Given the description of an element on the screen output the (x, y) to click on. 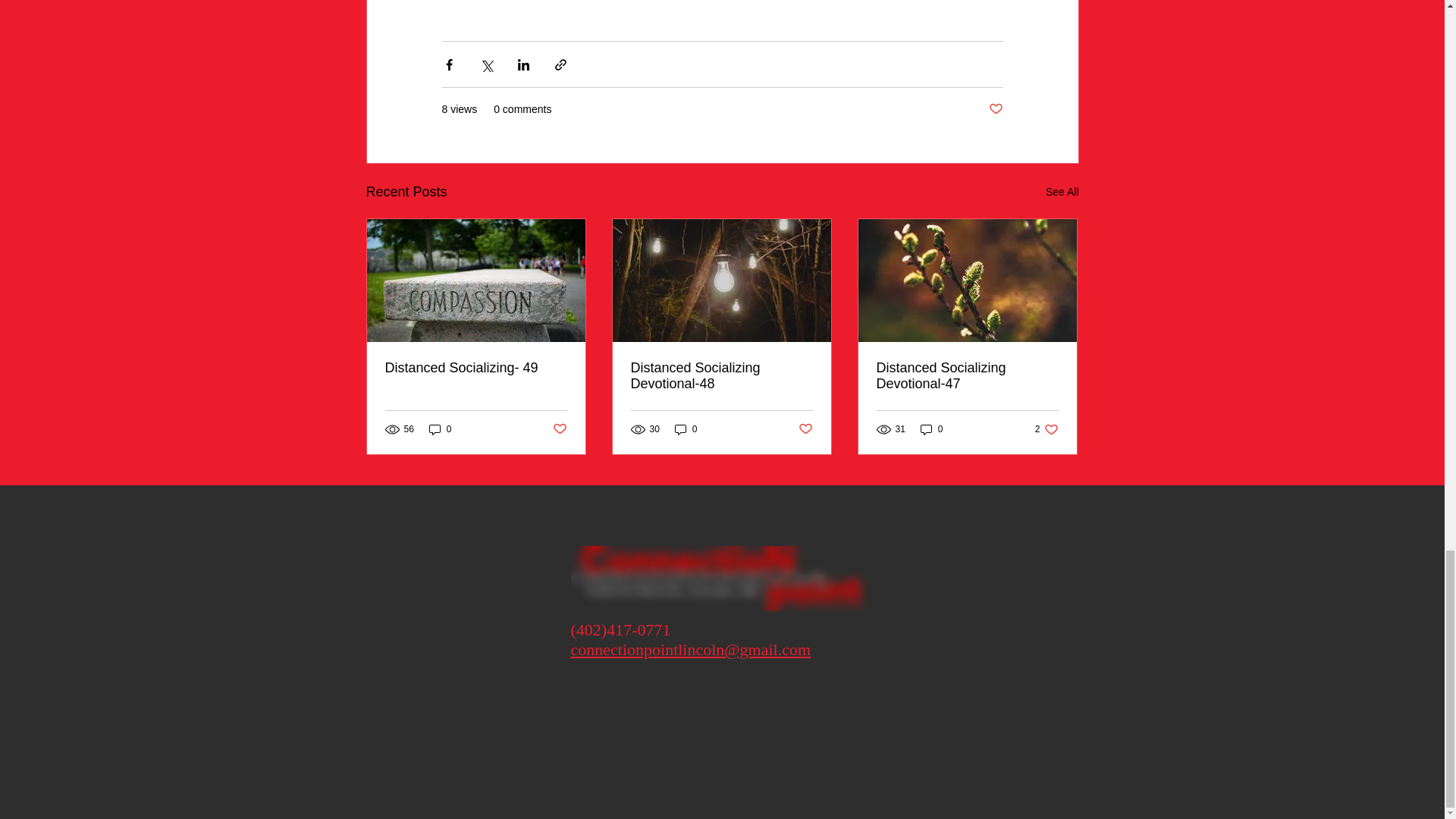
0 (685, 428)
Post not marked as liked (995, 109)
Distanced Socializing Devotional-47 (967, 376)
Distanced Socializing Devotional-48 (721, 376)
0 (440, 428)
0 (931, 428)
Post not marked as liked (558, 429)
Post not marked as liked (1046, 428)
Distanced Socializing- 49 (804, 429)
